Given the description of an element on the screen output the (x, y) to click on. 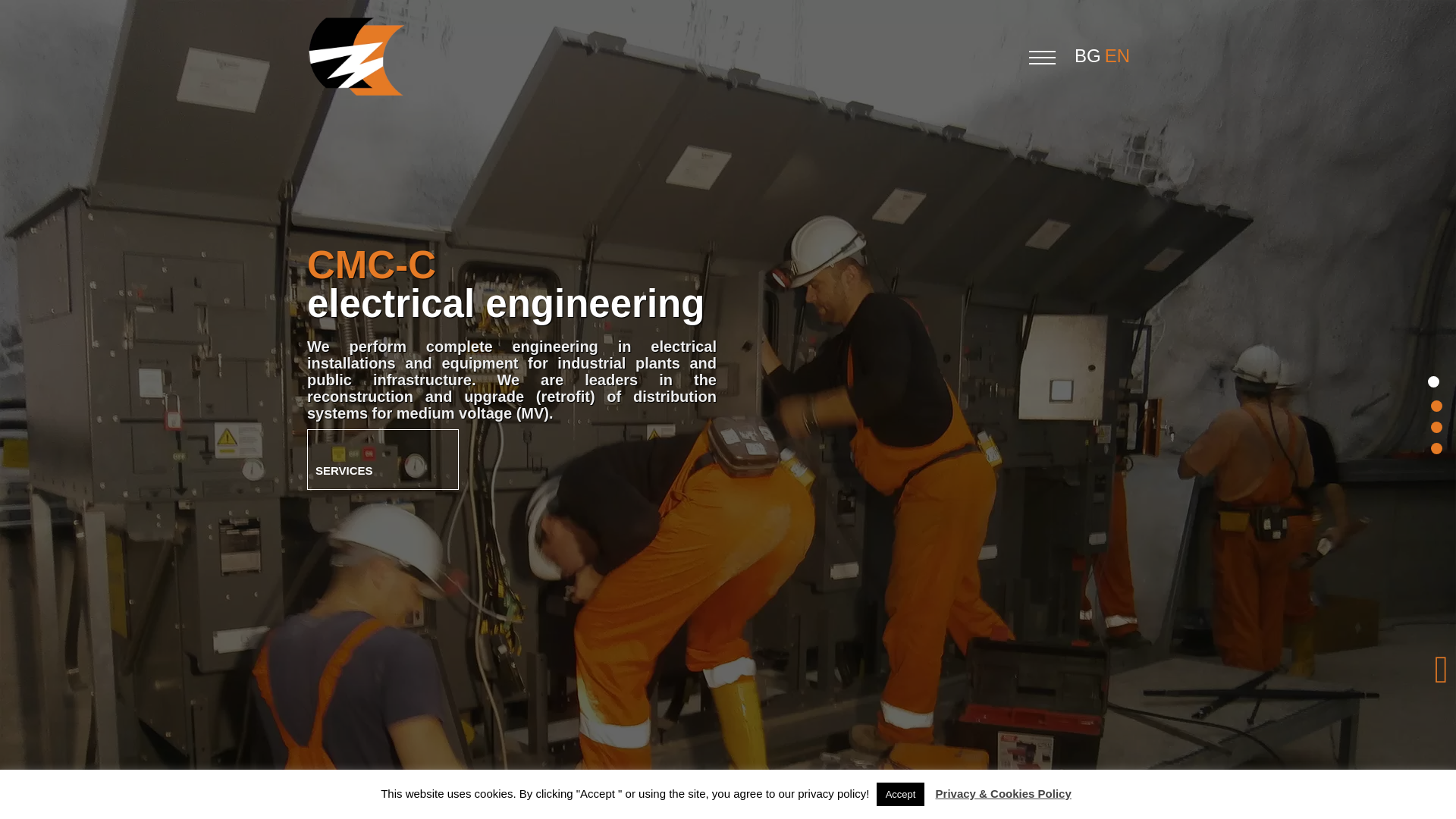
SERVICES (382, 459)
Products (1432, 423)
English (1119, 55)
About us (1432, 402)
Career (1432, 444)
Home (1432, 380)
Services (382, 459)
Accept (900, 793)
